Given the description of an element on the screen output the (x, y) to click on. 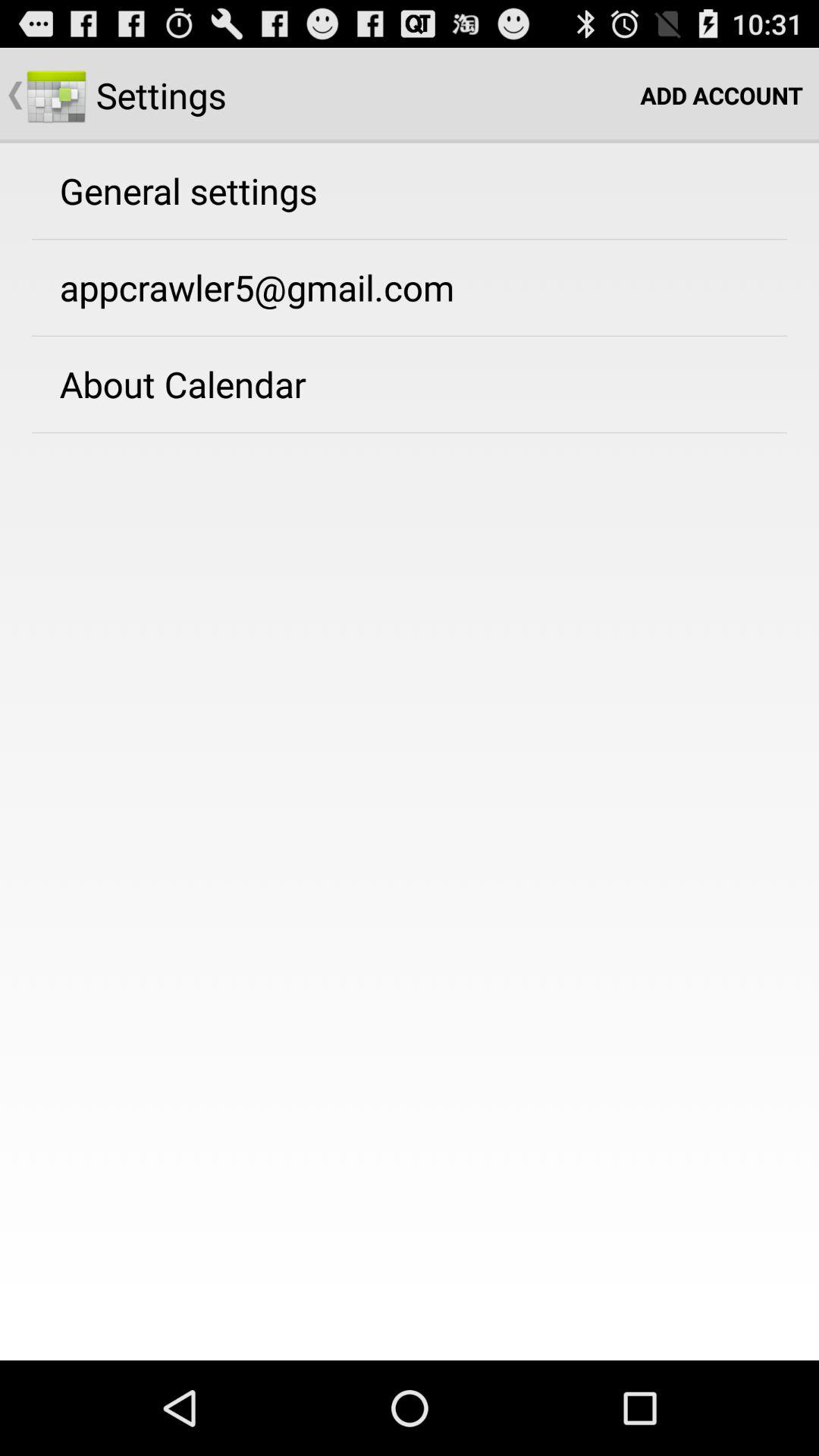
flip to the general settings app (188, 190)
